Given the description of an element on the screen output the (x, y) to click on. 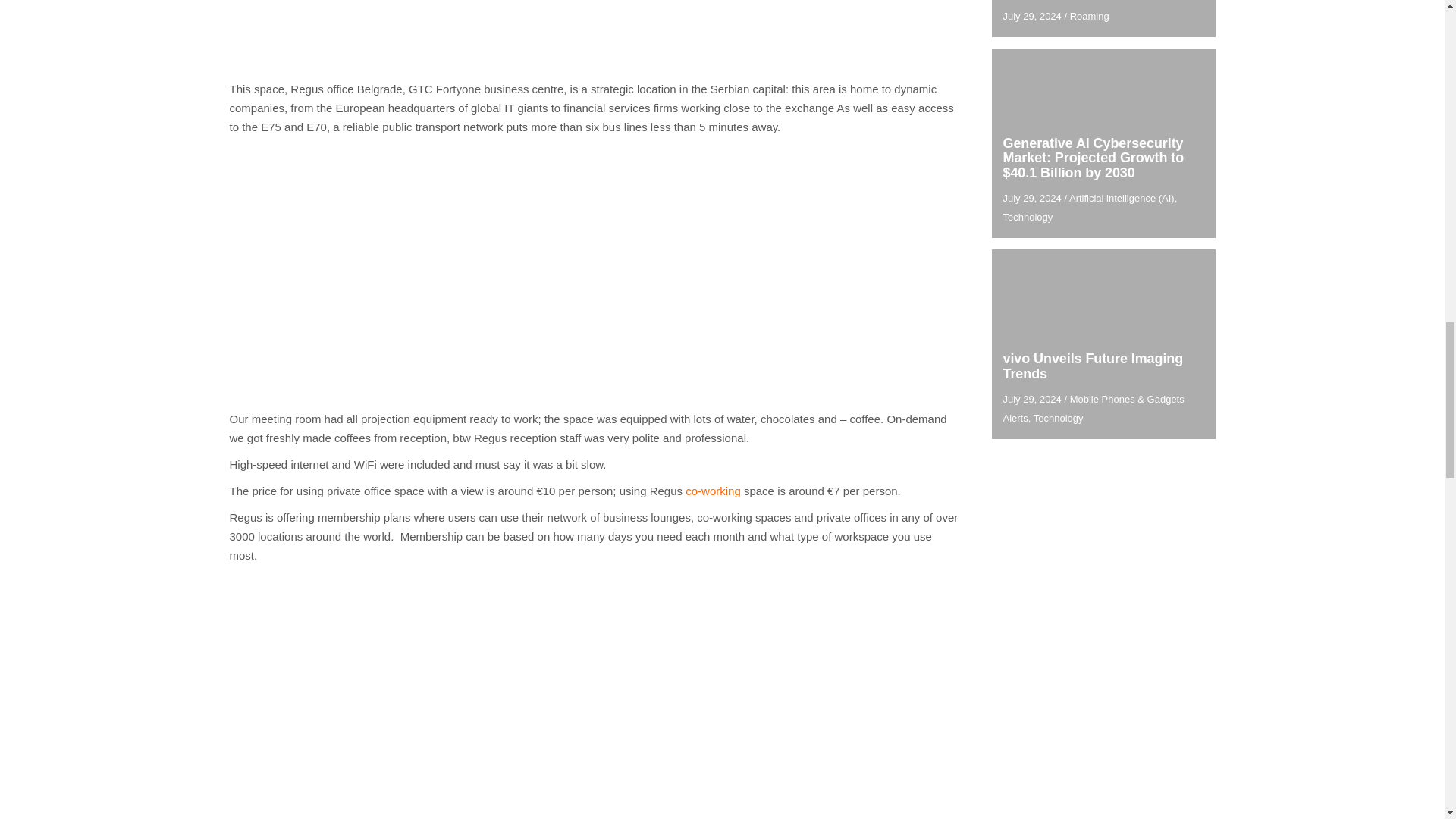
Technology (1027, 216)
Roaming (1089, 16)
